Given the description of an element on the screen output the (x, y) to click on. 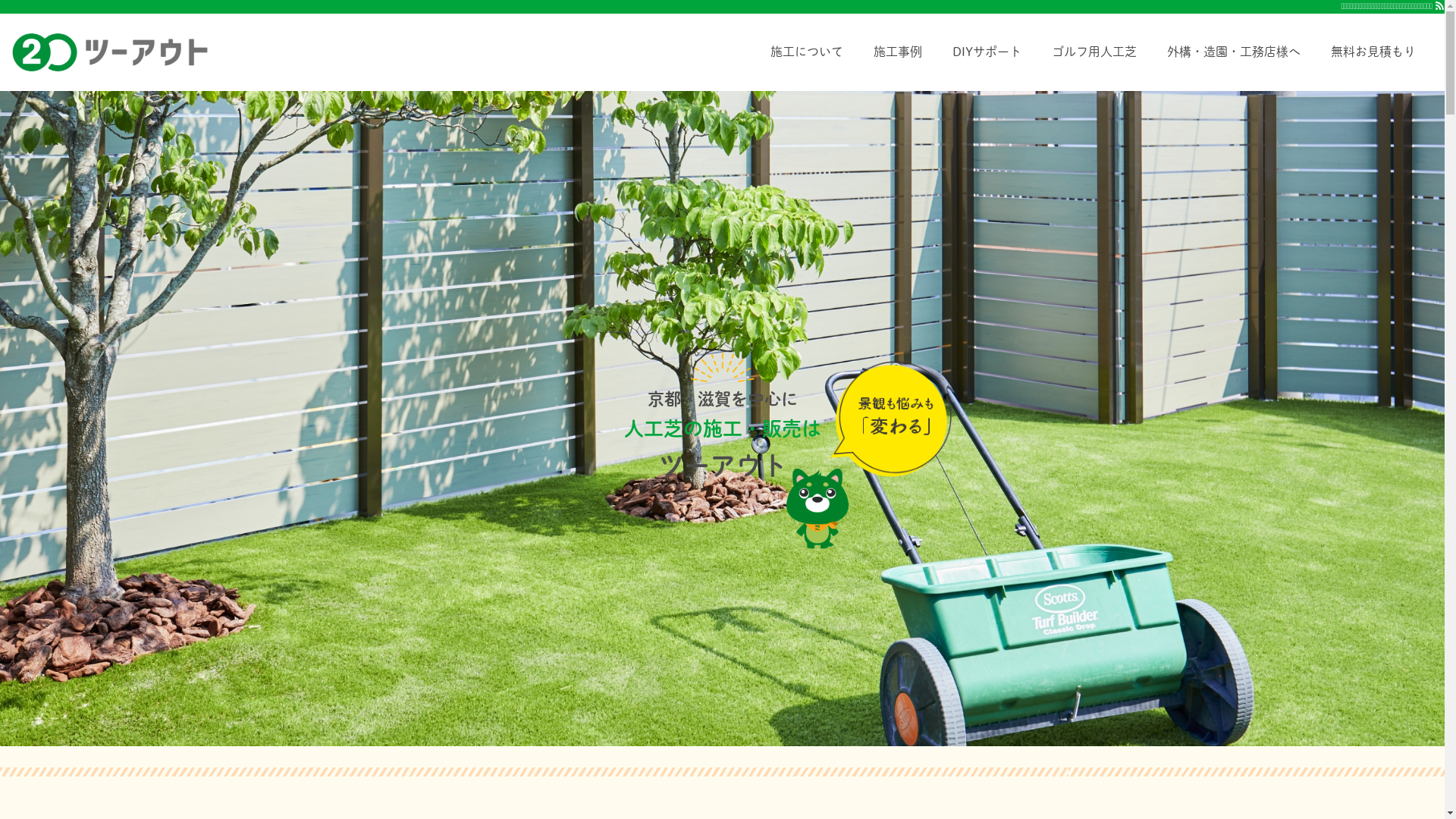
RSS Element type: hover (1439, 5)
